Given the description of an element on the screen output the (x, y) to click on. 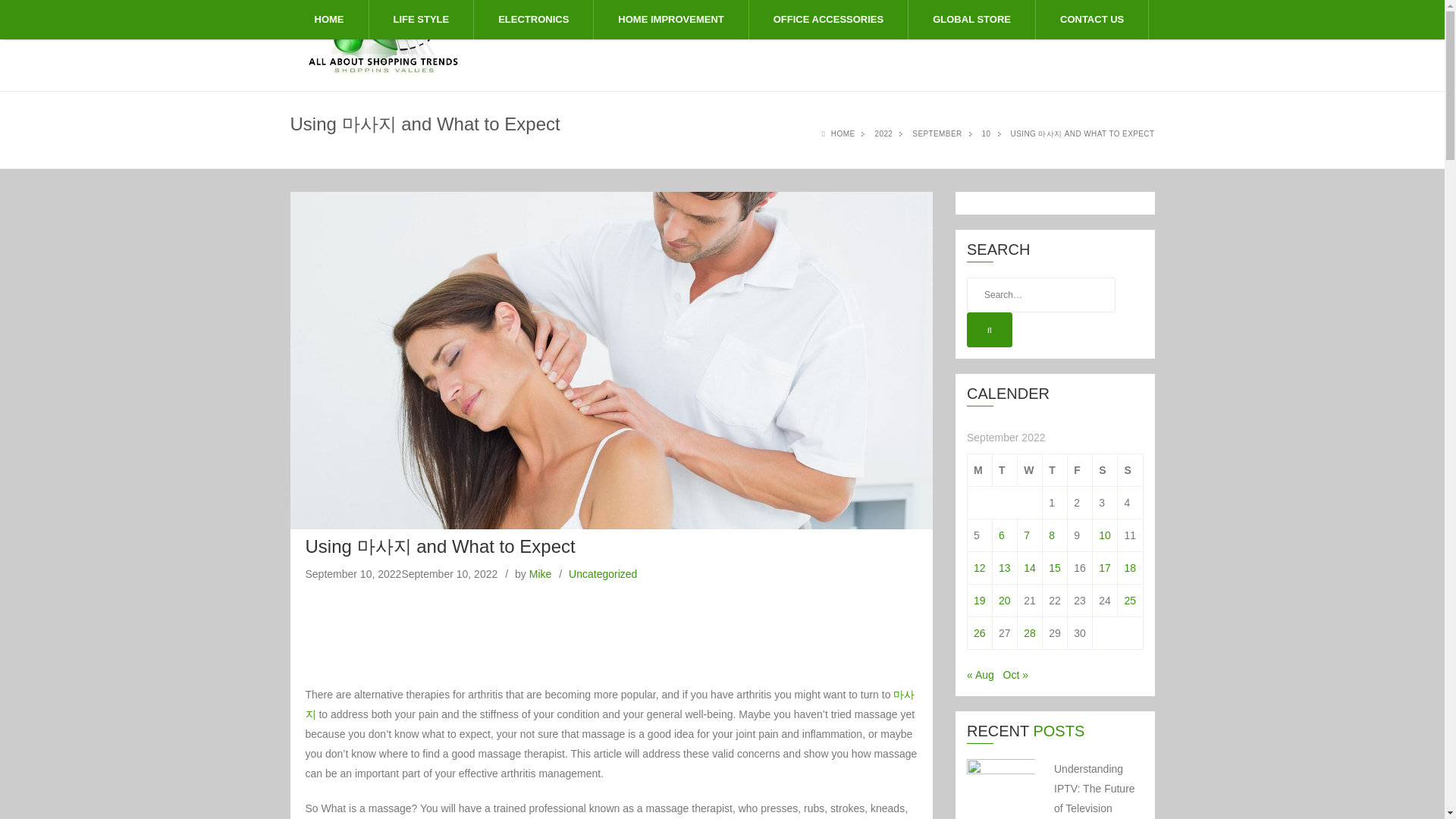
ELECTRONICS (533, 19)
Mike (540, 573)
HOME IMPROVEMENT (670, 19)
10 (986, 134)
SEPTEMBER (936, 134)
OFFICE ACCESSORIES (828, 19)
LIFE STYLE (420, 19)
HOME (328, 19)
GLOBAL STORE (971, 19)
CONTACT US (1091, 19)
